Given the description of an element on the screen output the (x, y) to click on. 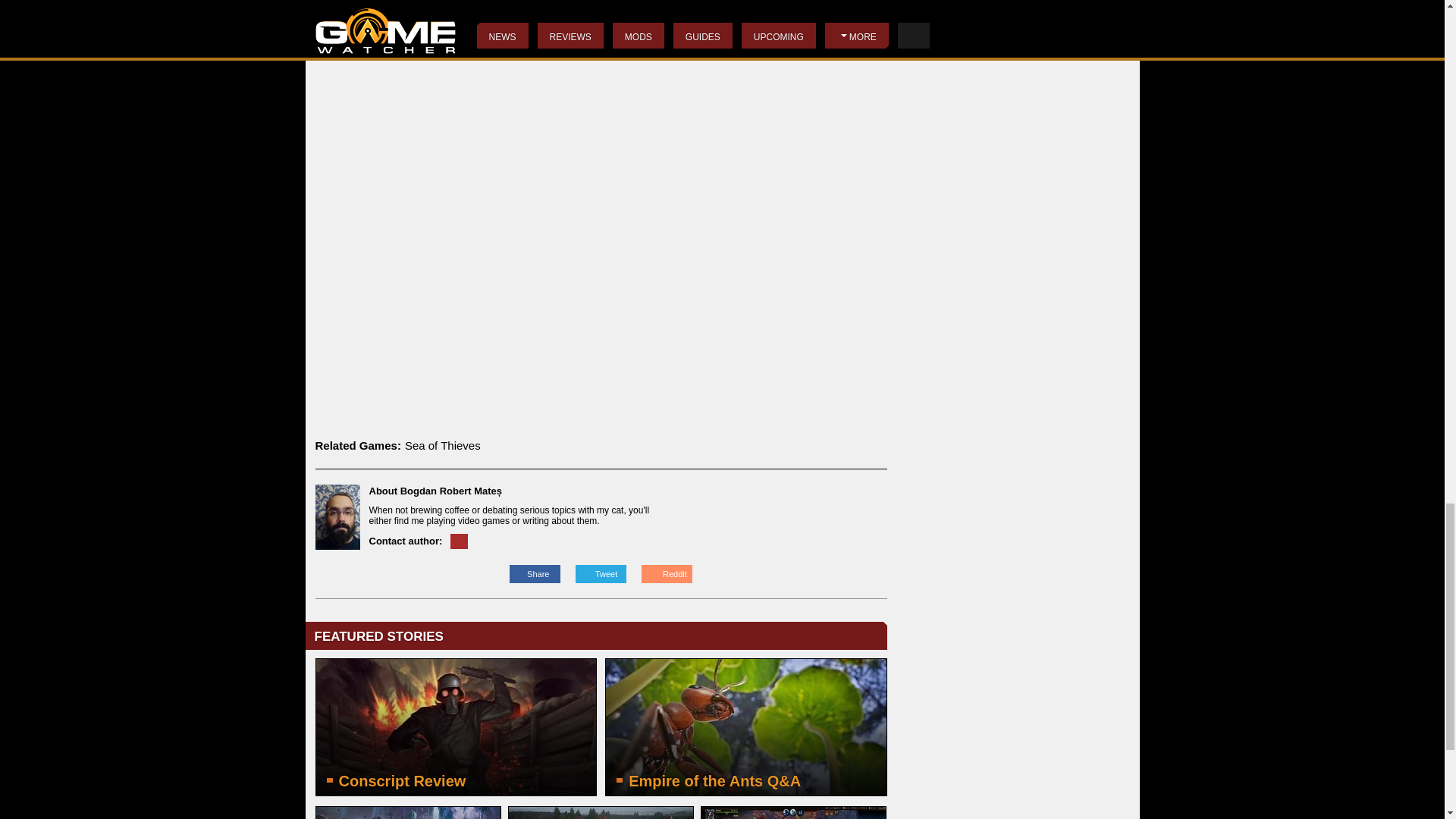
YouTube (395, 51)
Discord (709, 51)
Twitter (745, 33)
Facebook (556, 51)
Sea of Thieves (442, 445)
